Given the description of an element on the screen output the (x, y) to click on. 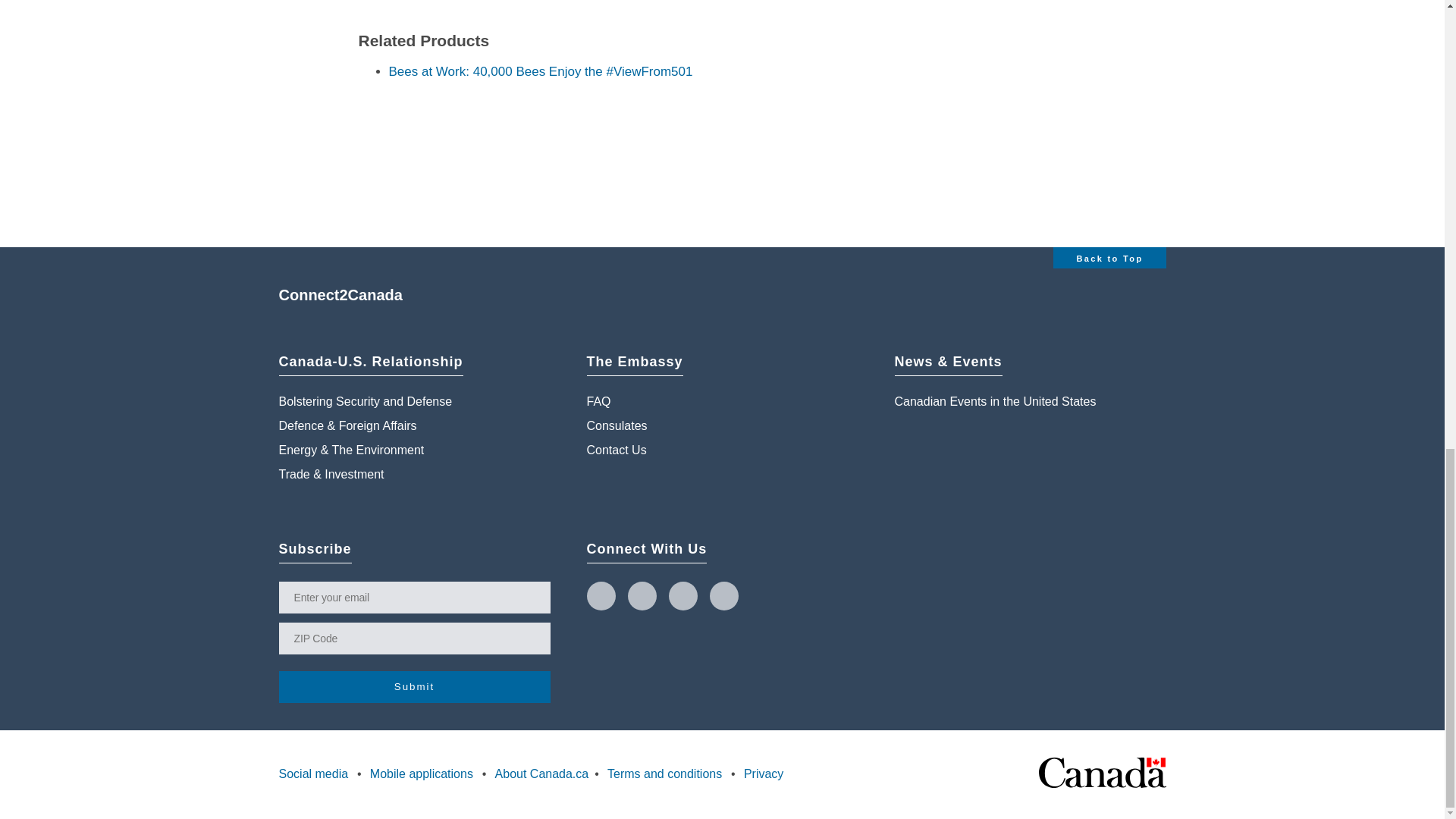
Follow us on Facebook (641, 595)
Follow us on Flickr (724, 595)
Follow us on Instagram (682, 595)
Follow us on Twitter (600, 595)
